Given the description of an element on the screen output the (x, y) to click on. 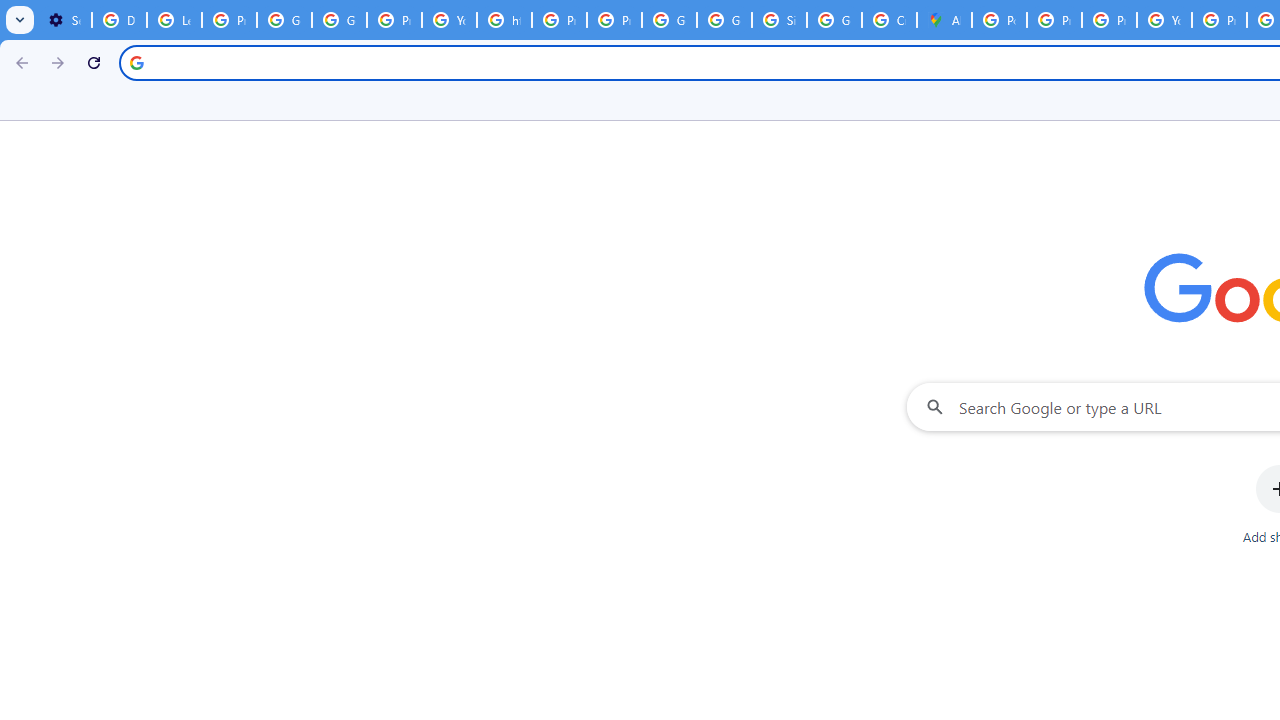
Sign in - Google Accounts (779, 20)
Google Account Help (284, 20)
YouTube (449, 20)
YouTube (1163, 20)
Policy Accountability and Transparency - Transparency Center (998, 20)
Privacy Help Center - Policies Help (1053, 20)
